Given the description of an element on the screen output the (x, y) to click on. 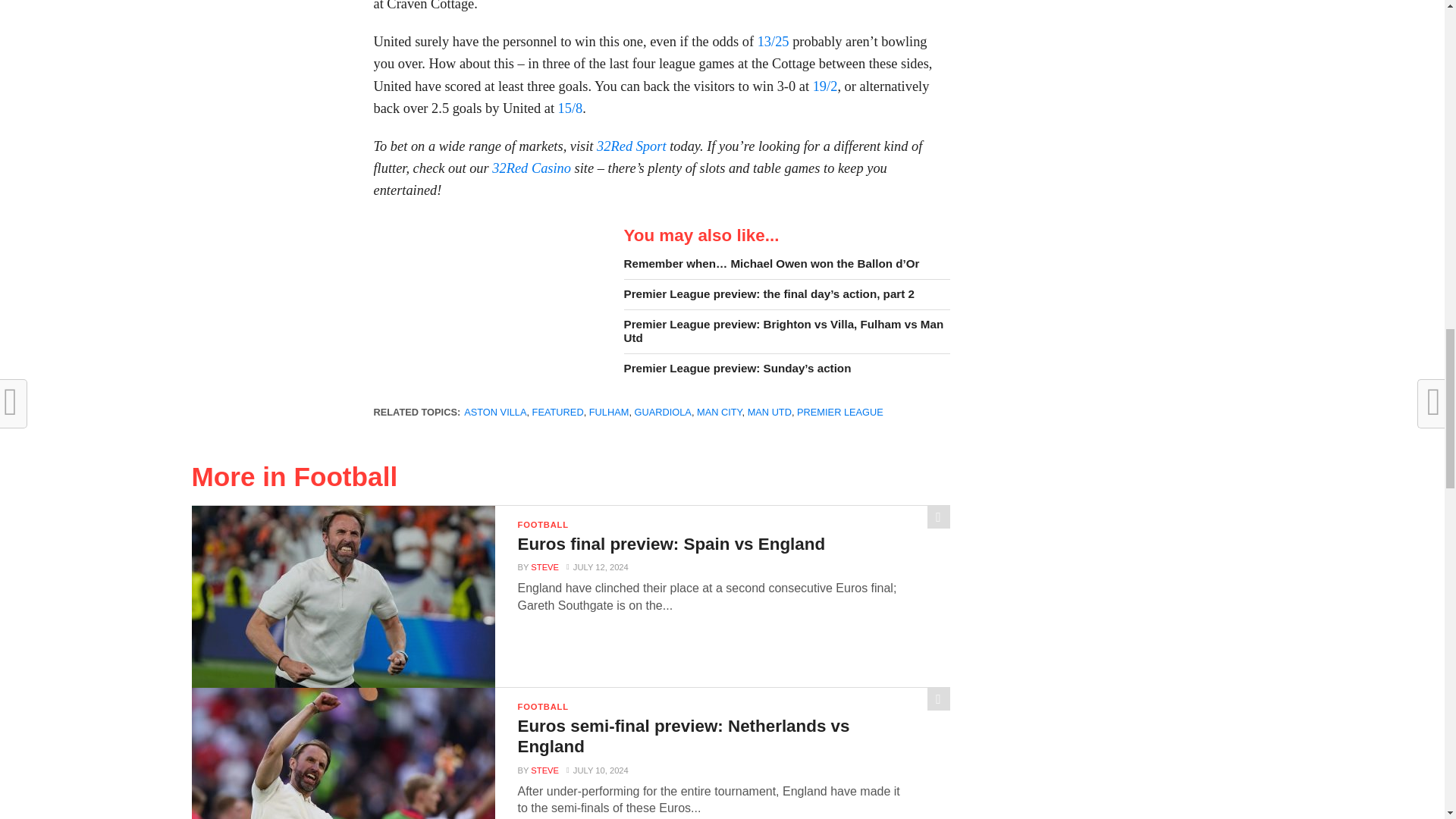
Posts by Steve (545, 566)
Posts by Steve (545, 769)
